Given the description of an element on the screen output the (x, y) to click on. 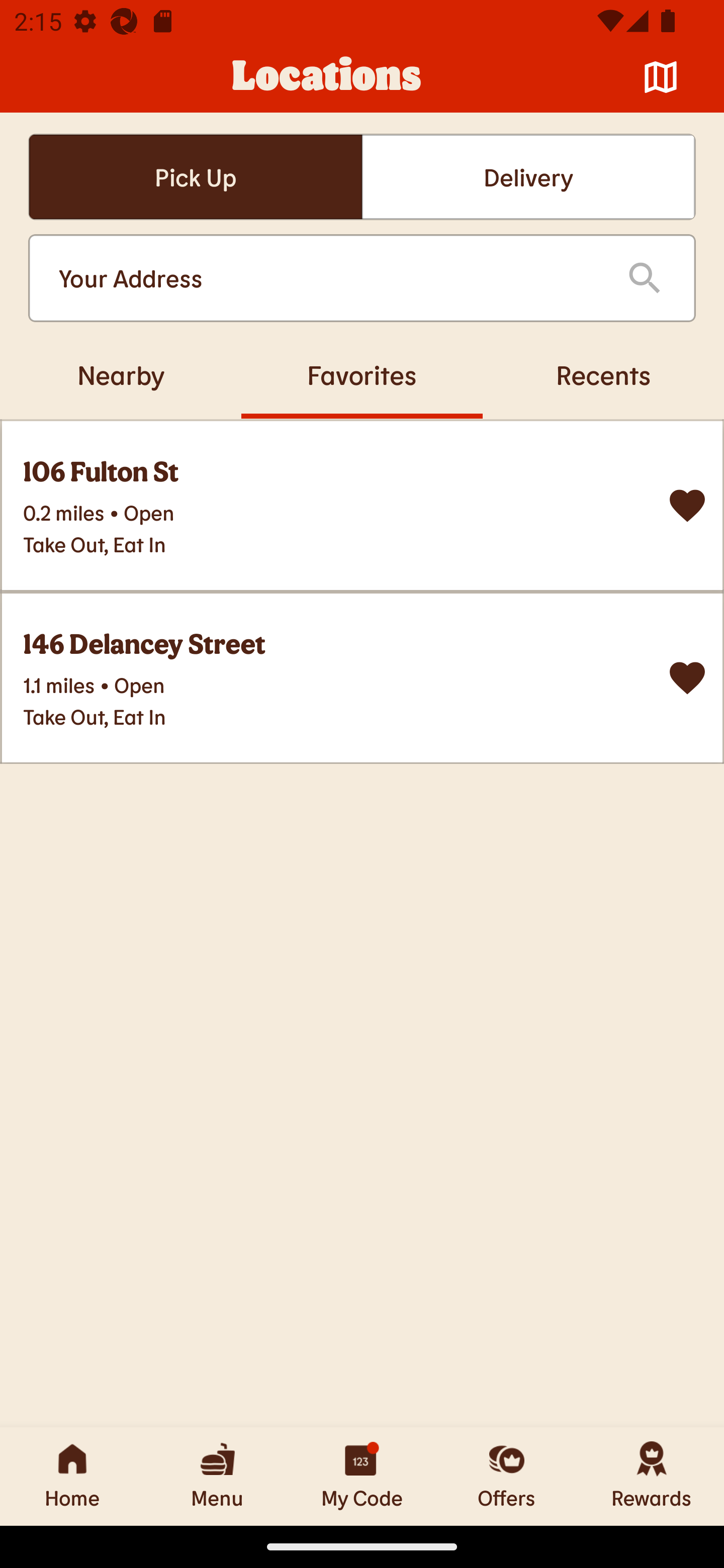
Map 󰦂 (660, 77)
Locations (326, 77)
Pick UpSelected Pick UpSelected Pick Up (195, 176)
Delivery Delivery Delivery (528, 176)
Your Address (327, 277)
Nearby (120, 374)
Favorites (361, 374)
Recents (603, 374)
Remove from Favorites?  (687, 505)
Remove from Favorites?  (687, 677)
Home (72, 1475)
Menu (216, 1475)
My Code (361, 1475)
Offers (506, 1475)
Rewards (651, 1475)
